Given the description of an element on the screen output the (x, y) to click on. 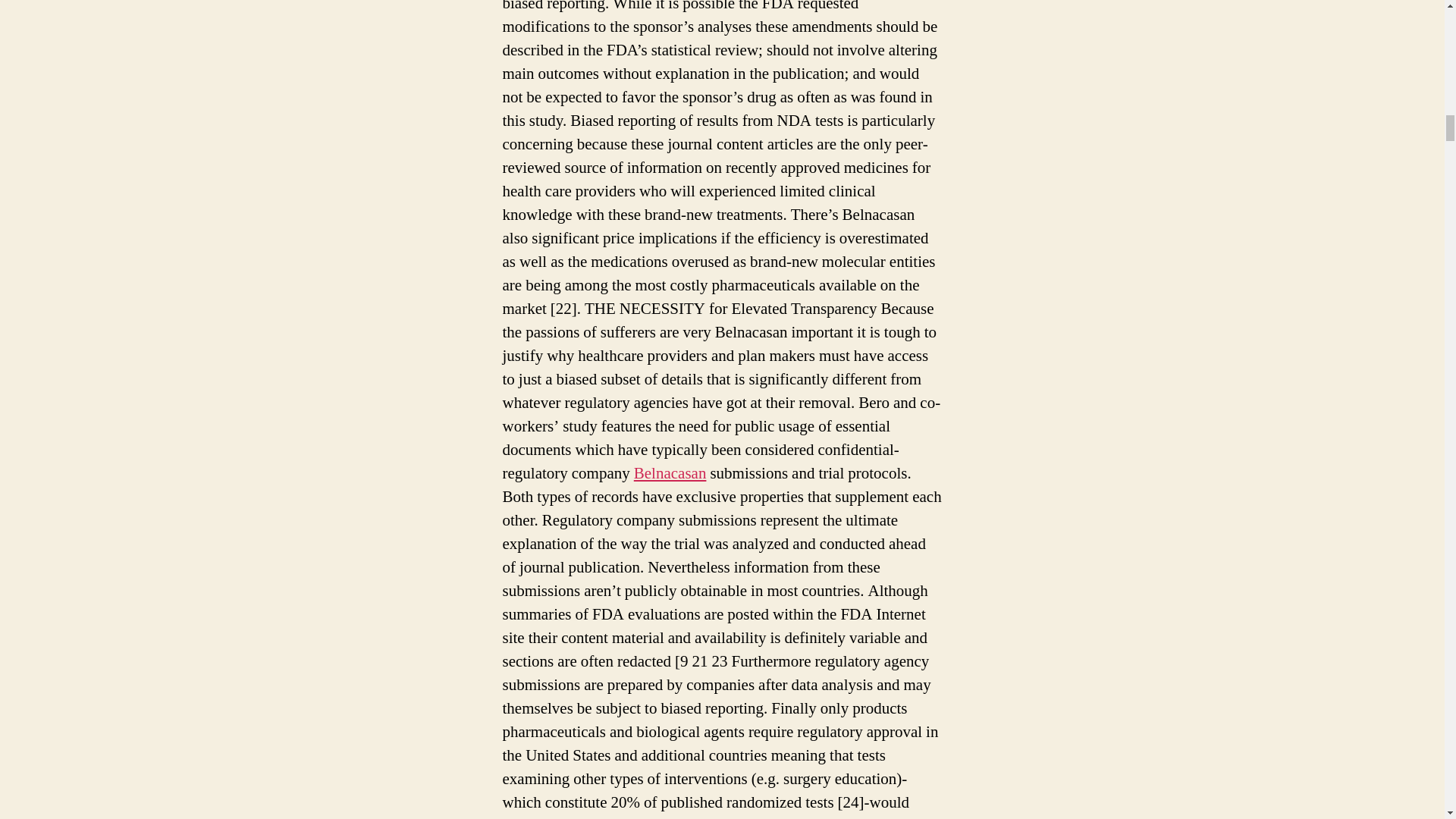
Belnacasan (669, 473)
